Given the description of an element on the screen output the (x, y) to click on. 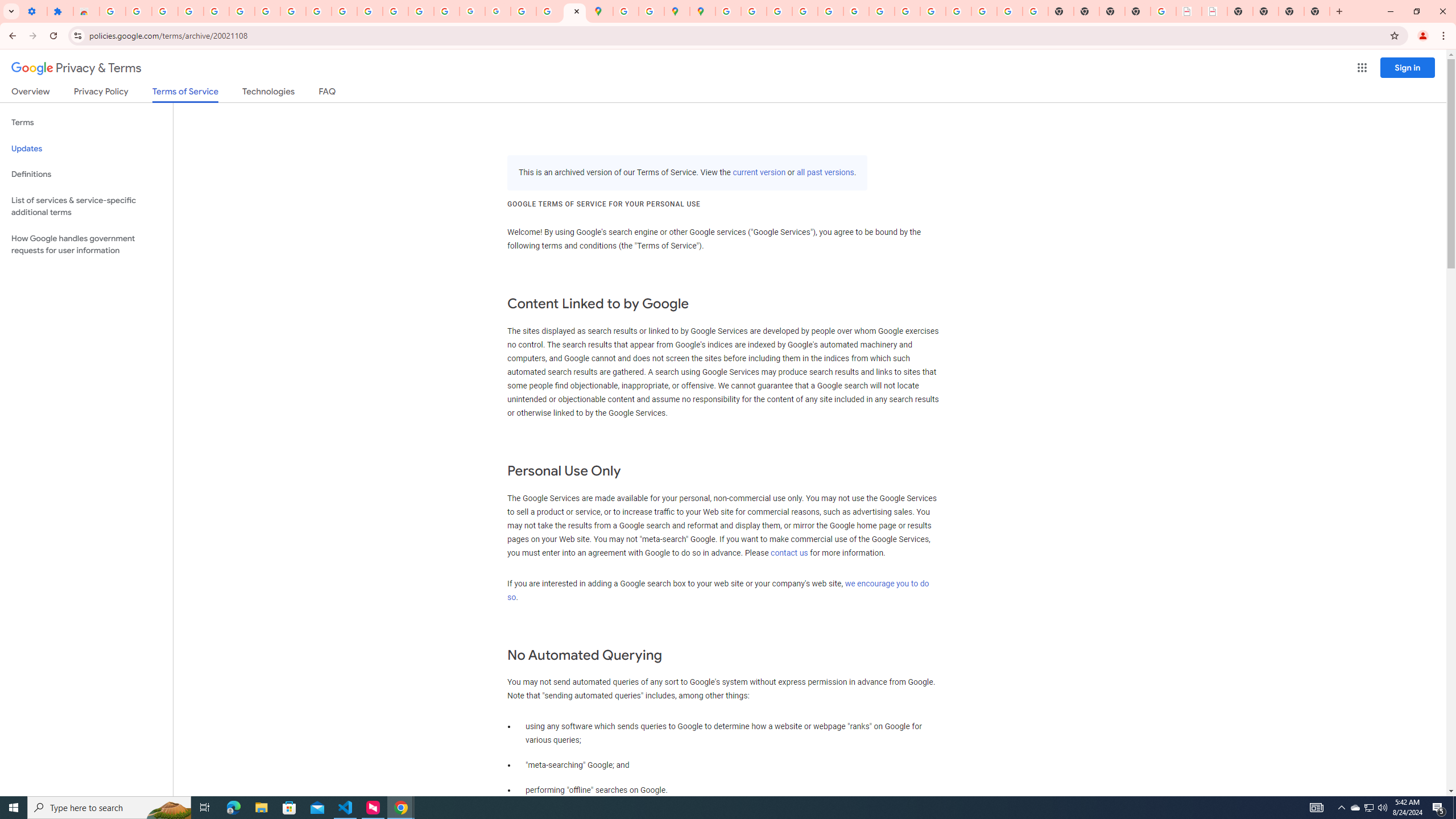
Learn how to find your photos - Google Photos Help (190, 11)
Privacy & Terms (76, 68)
Terms of Service (184, 94)
Settings - On startup (34, 11)
contact us (789, 552)
